Given the description of an element on the screen output the (x, y) to click on. 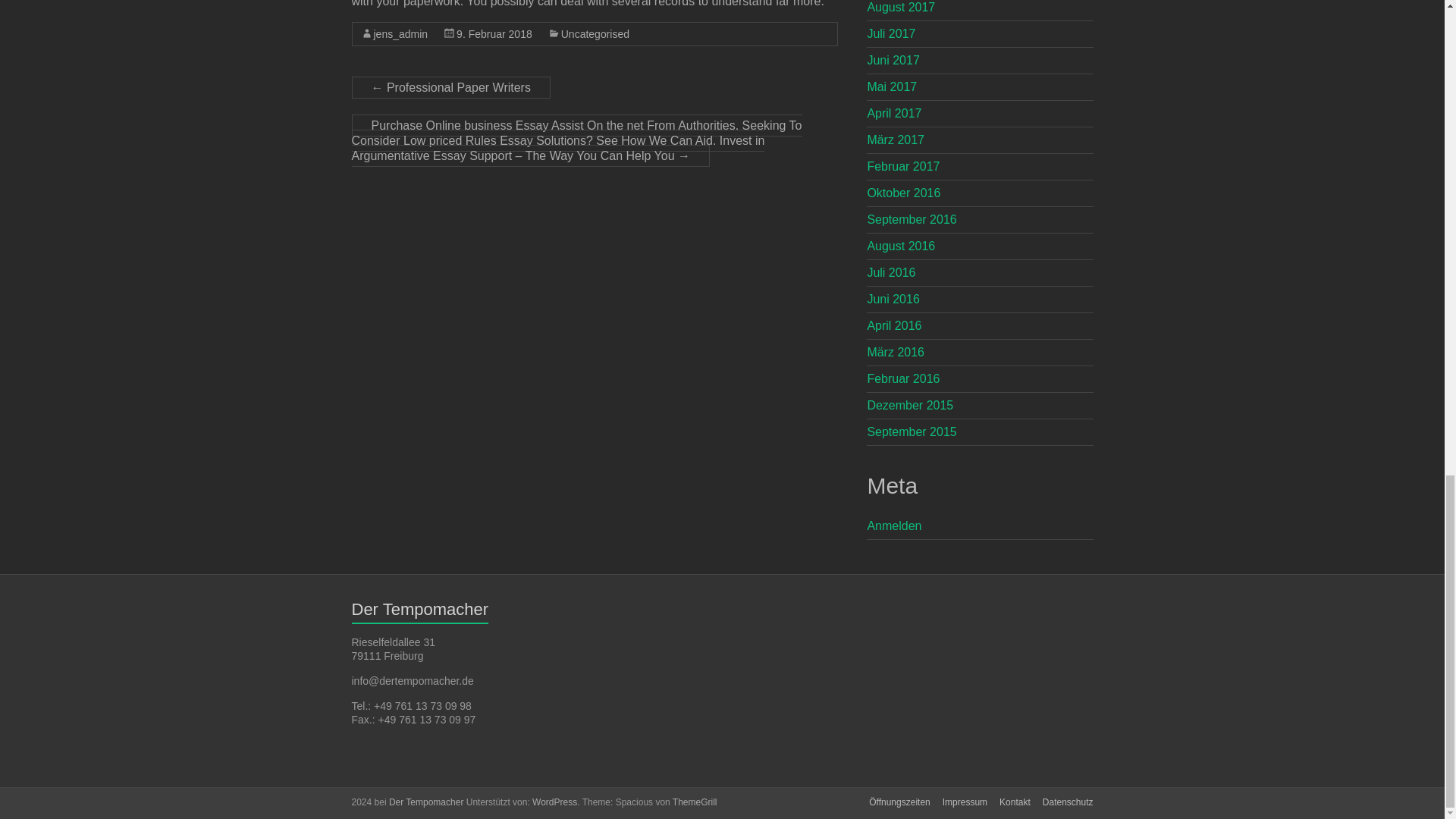
9. Februar 2018 (494, 33)
ThemeGrill (694, 801)
Der Tempomacher (425, 801)
Uncategorised (594, 33)
WordPress (554, 801)
15:52 (494, 33)
